Given the description of an element on the screen output the (x, y) to click on. 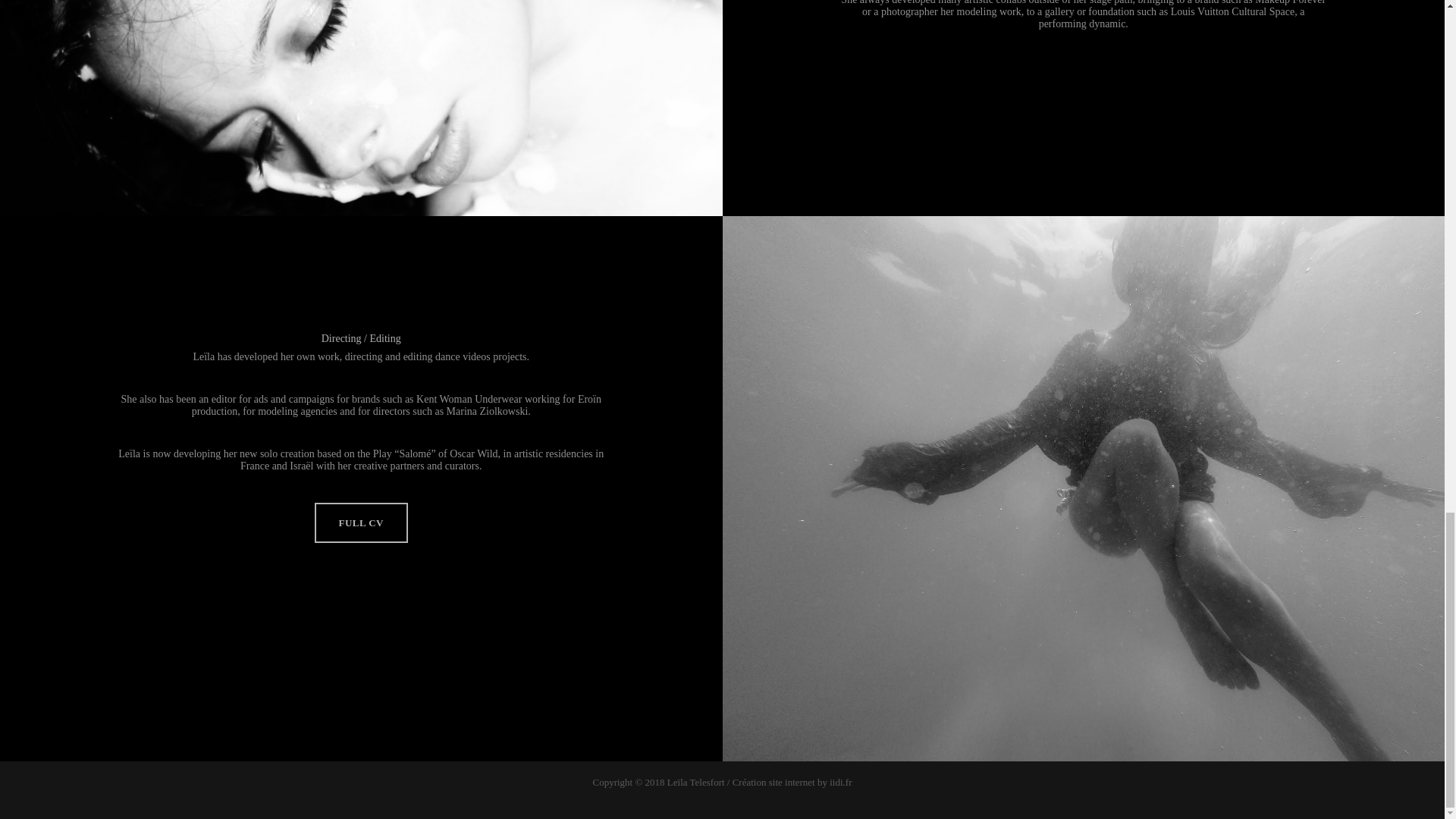
FULL CV (360, 522)
